Given the description of an element on the screen output the (x, y) to click on. 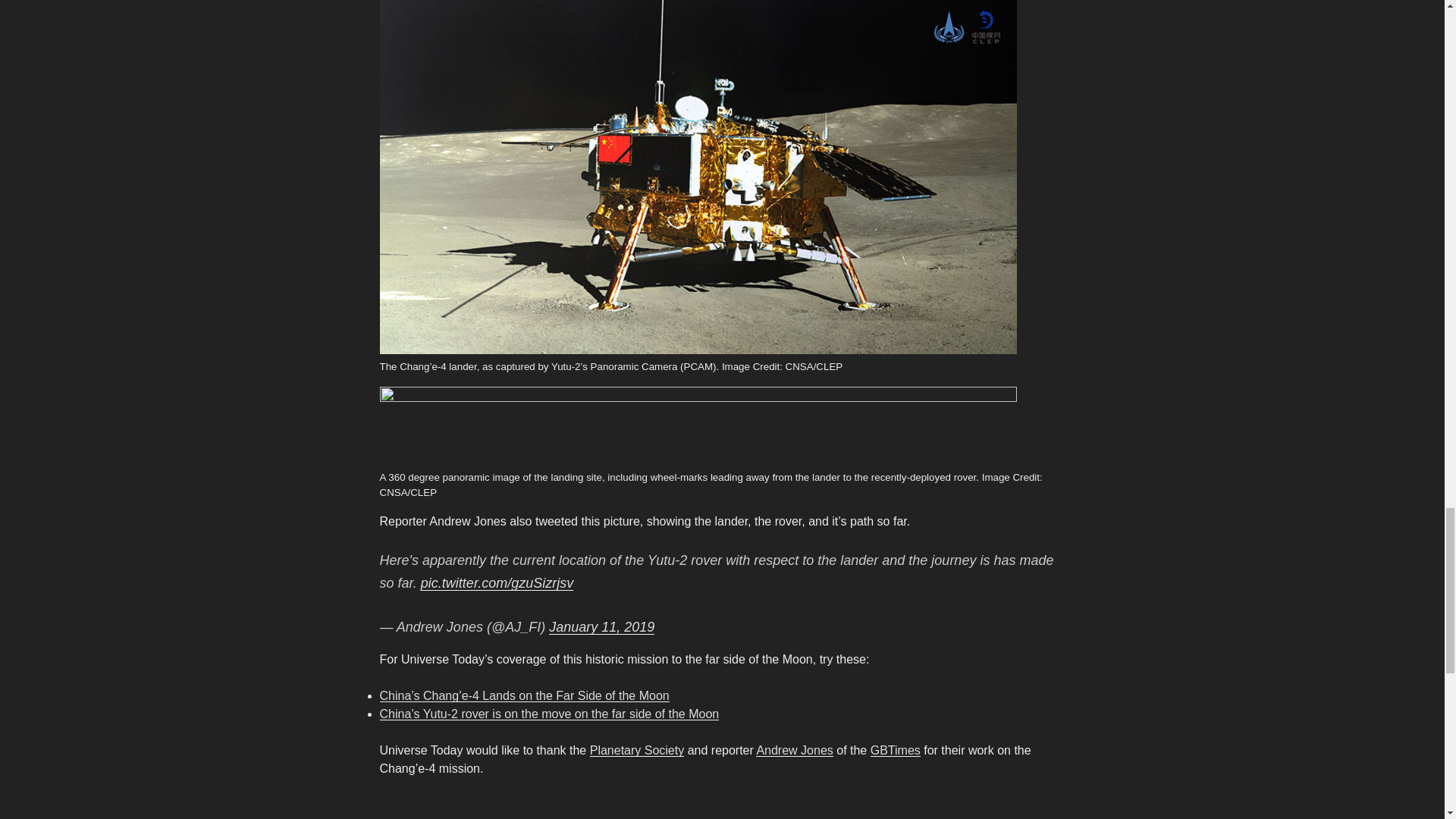
Andrew Jones (793, 749)
January 11, 2019 (600, 626)
Planetary Society (636, 749)
GBTimes (895, 749)
